Given the description of an element on the screen output the (x, y) to click on. 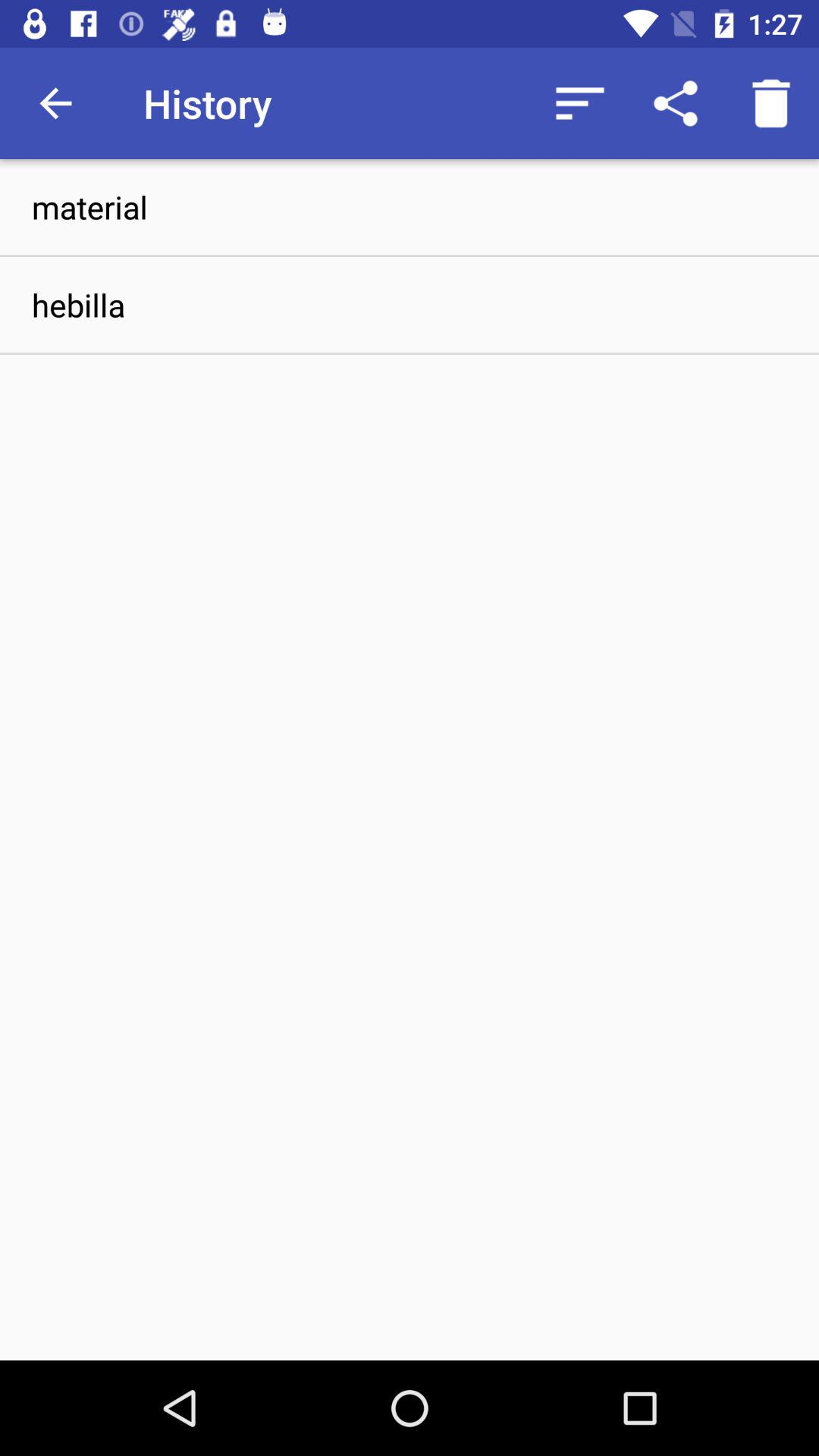
scroll to the material (409, 206)
